Given the description of an element on the screen output the (x, y) to click on. 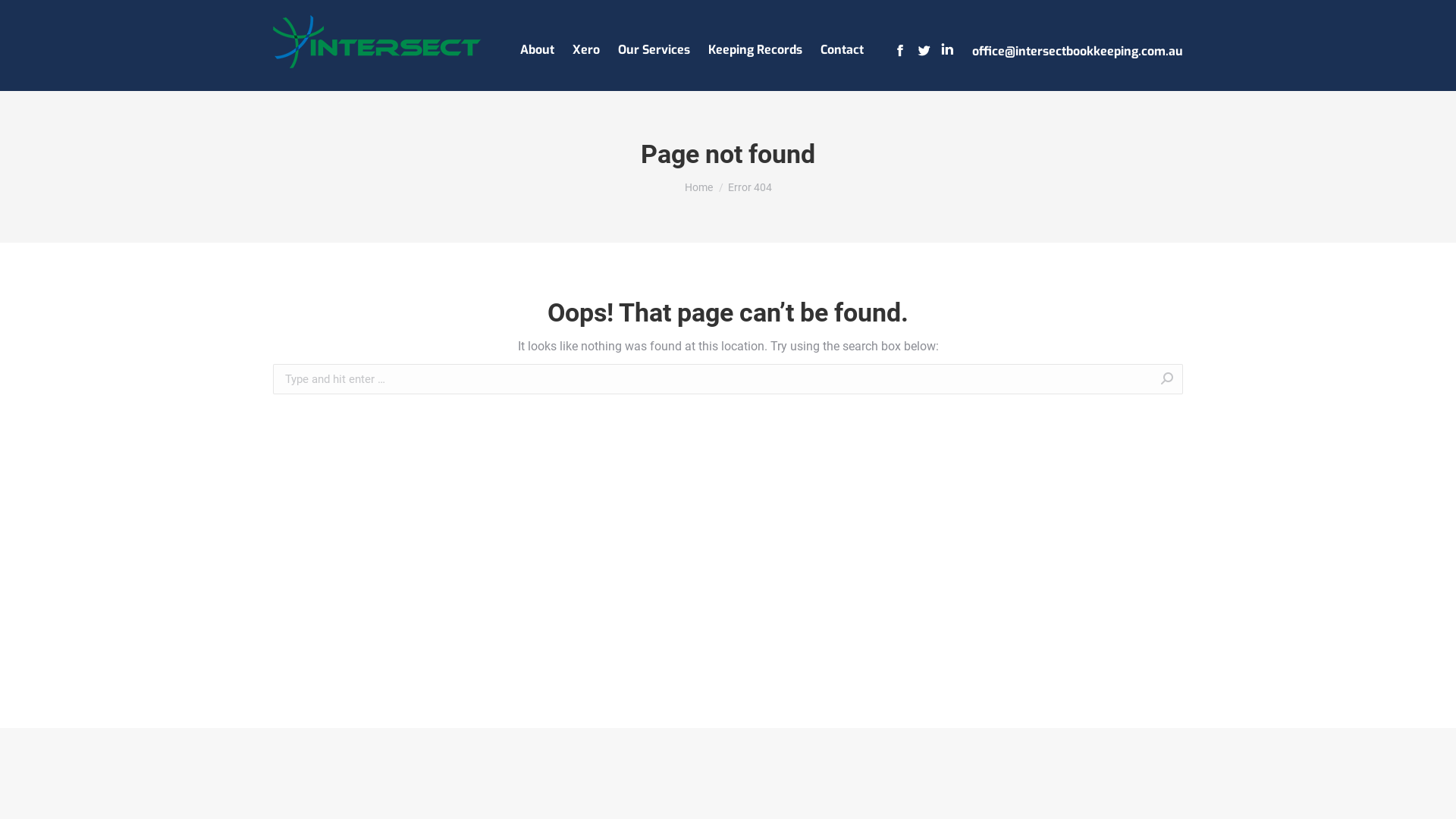
Twitter page opens in new window Element type: text (923, 49)
Our Services Element type: text (653, 45)
Contact Element type: text (841, 45)
Linkedin page opens in new window Element type: text (947, 49)
About Element type: text (537, 45)
Xero Element type: text (585, 45)
Facebook page opens in new window Element type: text (900, 49)
Go! Element type: text (1206, 380)
Home Element type: text (698, 187)
Keeping Records Element type: text (755, 45)
